Given the description of an element on the screen output the (x, y) to click on. 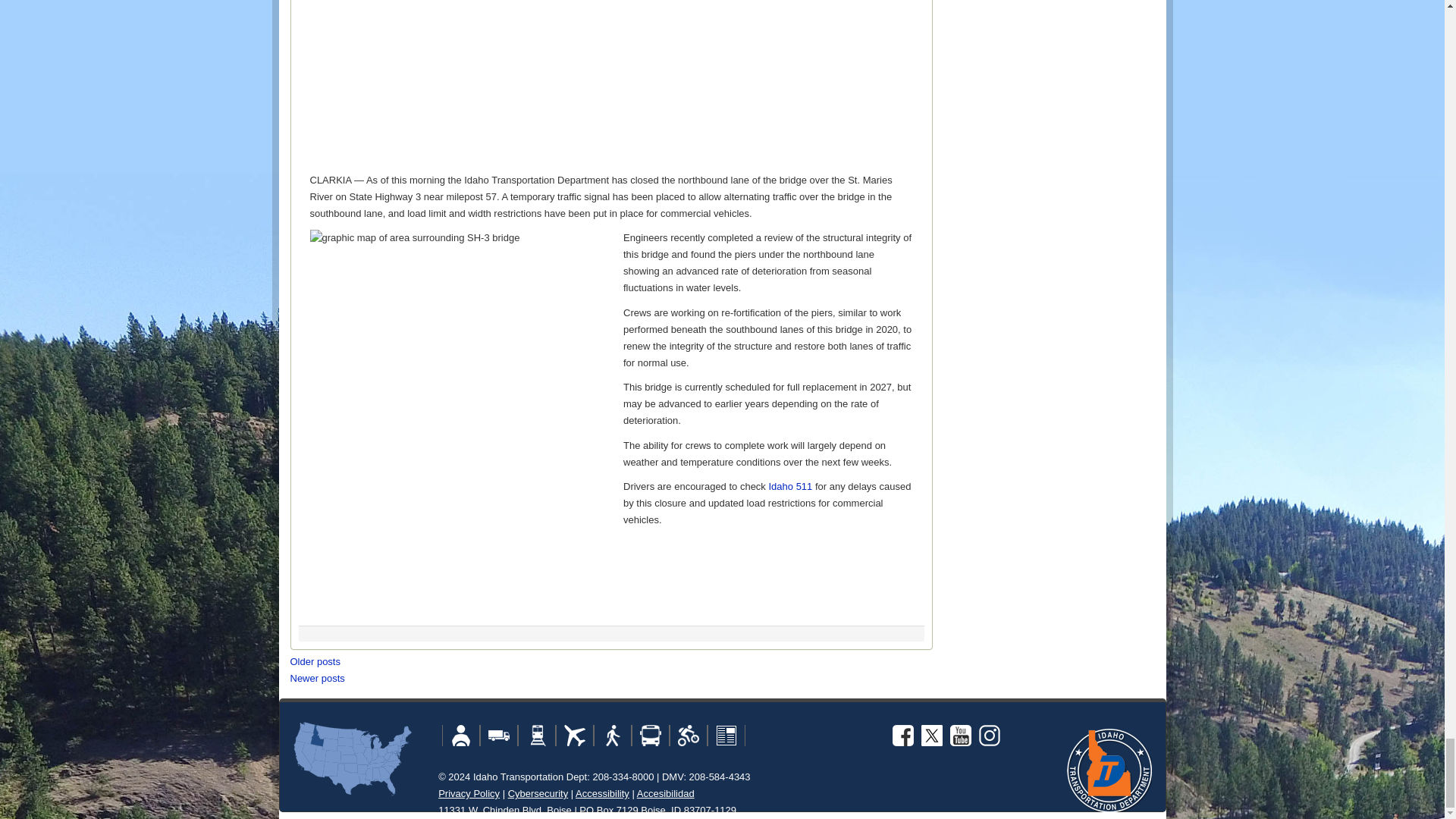
Department of Motor Vehicles (460, 735)
Motor Carrier Services (498, 735)
Aeronautics (574, 735)
Twitter (931, 735)
Public Transportation (650, 735)
FaceBook (903, 735)
News (726, 735)
Freight (536, 735)
